Given the description of an element on the screen output the (x, y) to click on. 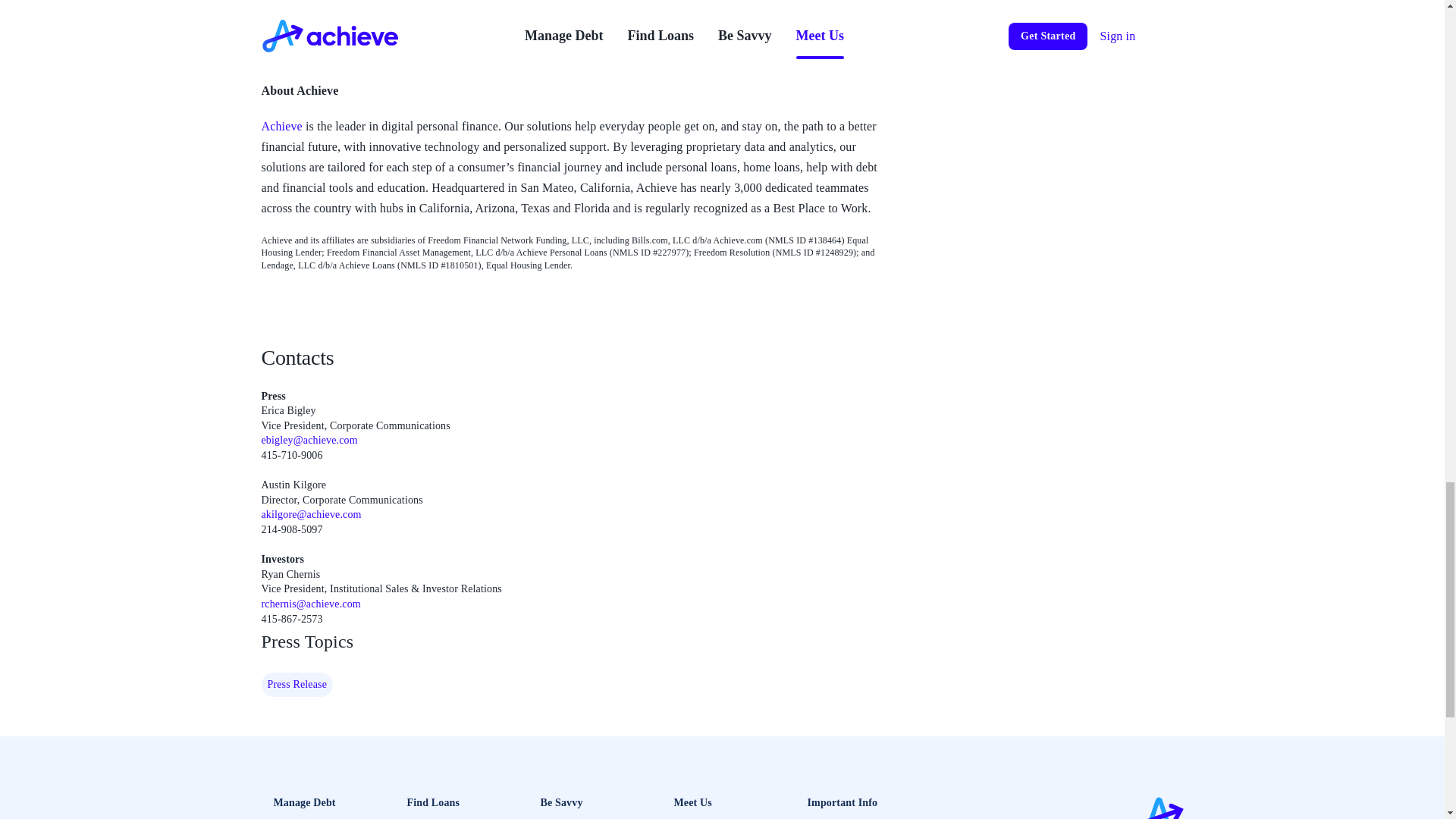
Achieve (280, 125)
